Given the description of an element on the screen output the (x, y) to click on. 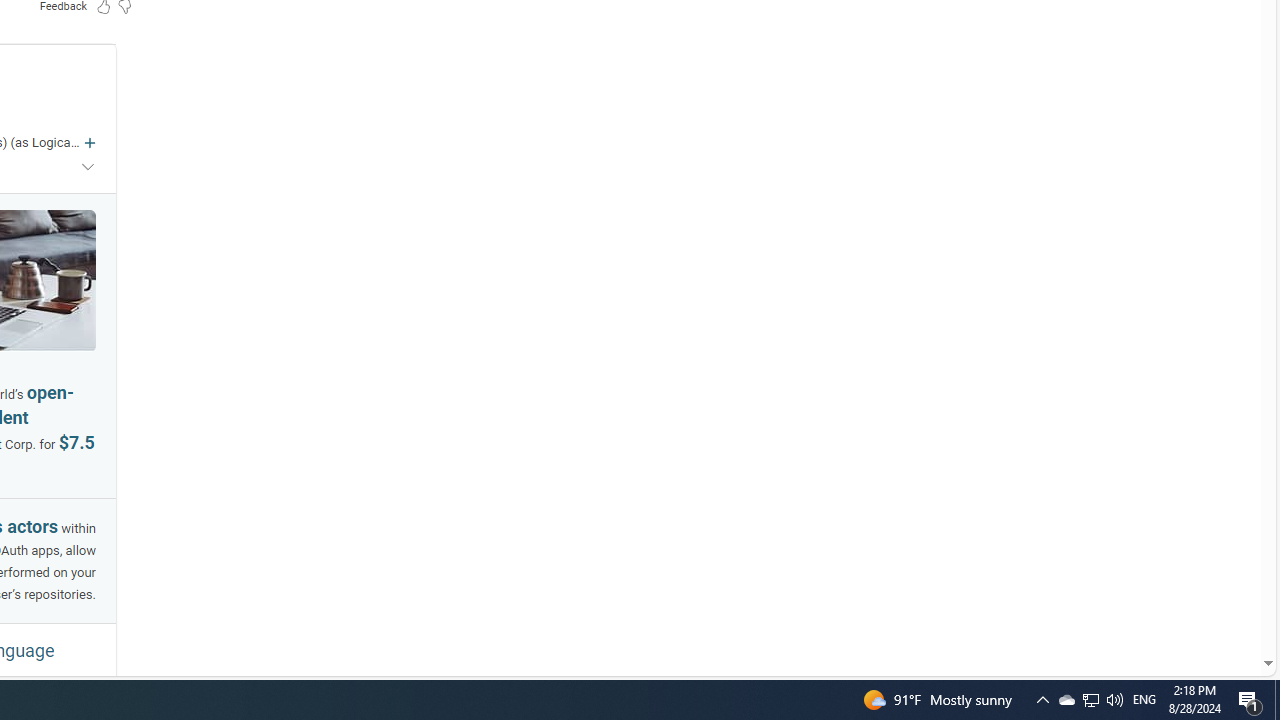
AutomationID: mfa_root (1192, 603)
Search more (1222, 604)
